Given the description of an element on the screen output the (x, y) to click on. 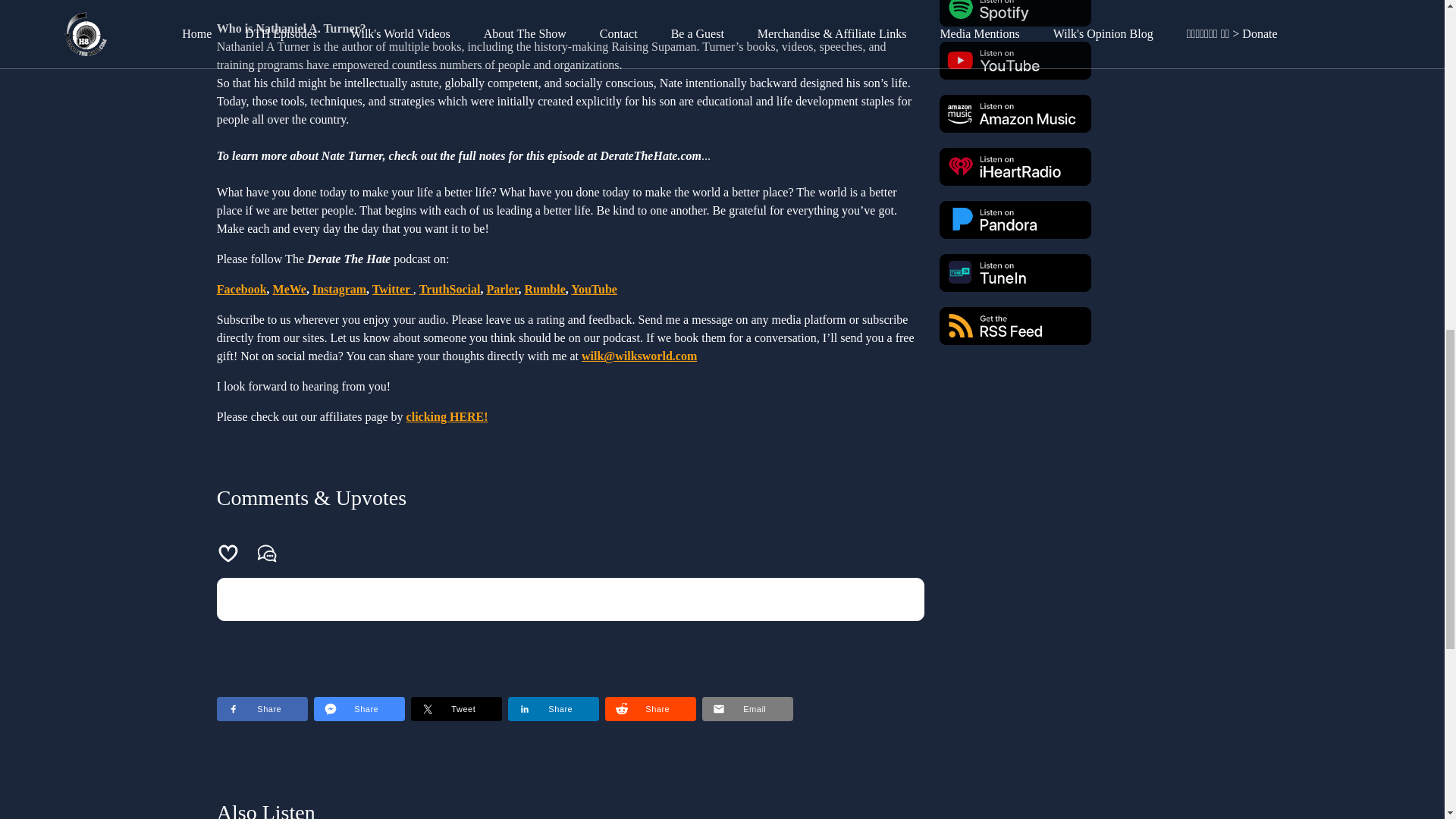
Listen on IHeart (1014, 166)
clicking HERE! (446, 416)
Rss (1014, 325)
Listen on TuneIN (1014, 272)
Listen on AmazonMusic (1014, 113)
Listen on Pandora (1014, 219)
MeWe (289, 288)
Facebook (241, 288)
Twitter (392, 288)
Listen on Spotify (1014, 13)
Rumble (545, 288)
Listen on Youtube (1014, 60)
TruthSocial (449, 288)
YouTube (593, 288)
Parler (502, 288)
